Given the description of an element on the screen output the (x, y) to click on. 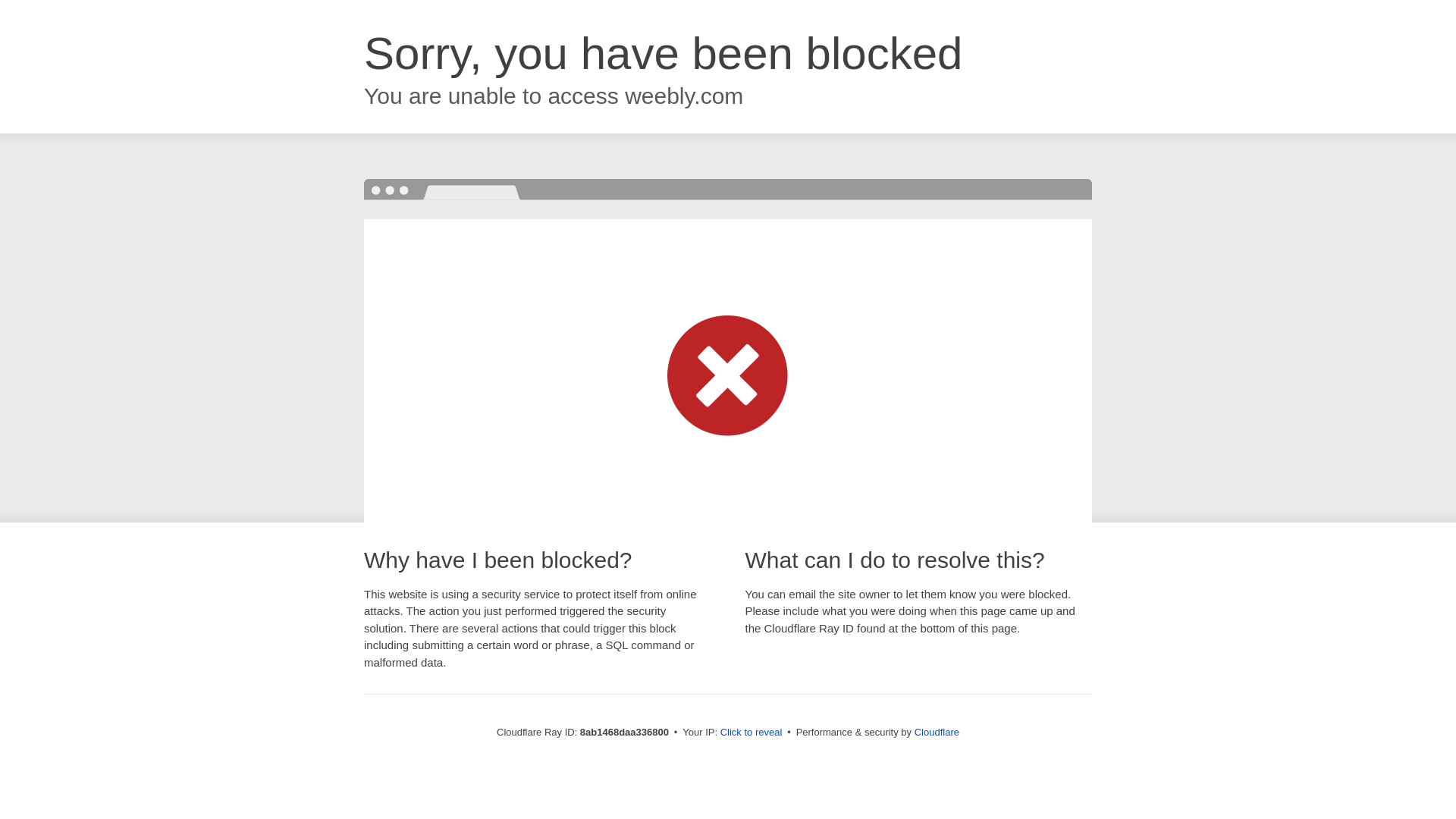
Click to reveal (751, 732)
Cloudflare (936, 731)
